Given the description of an element on the screen output the (x, y) to click on. 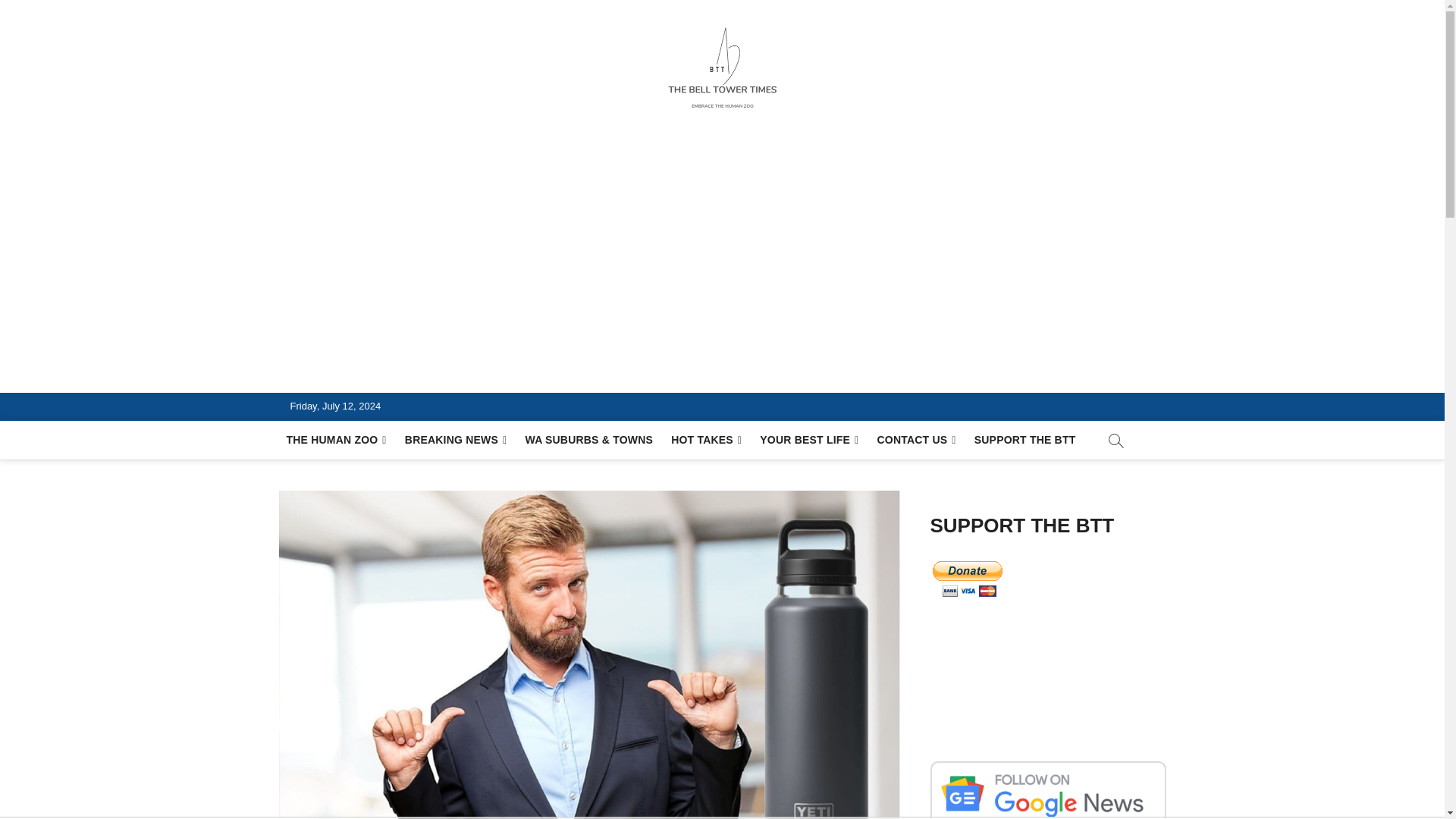
The Bell Tower Times (416, 374)
YOUR BEST LIFE (809, 439)
THE HUMAN ZOO (336, 439)
The Bell Tower Times (416, 374)
HOT TAKES (706, 439)
BREAKING NEWS (456, 439)
